Given the description of an element on the screen output the (x, y) to click on. 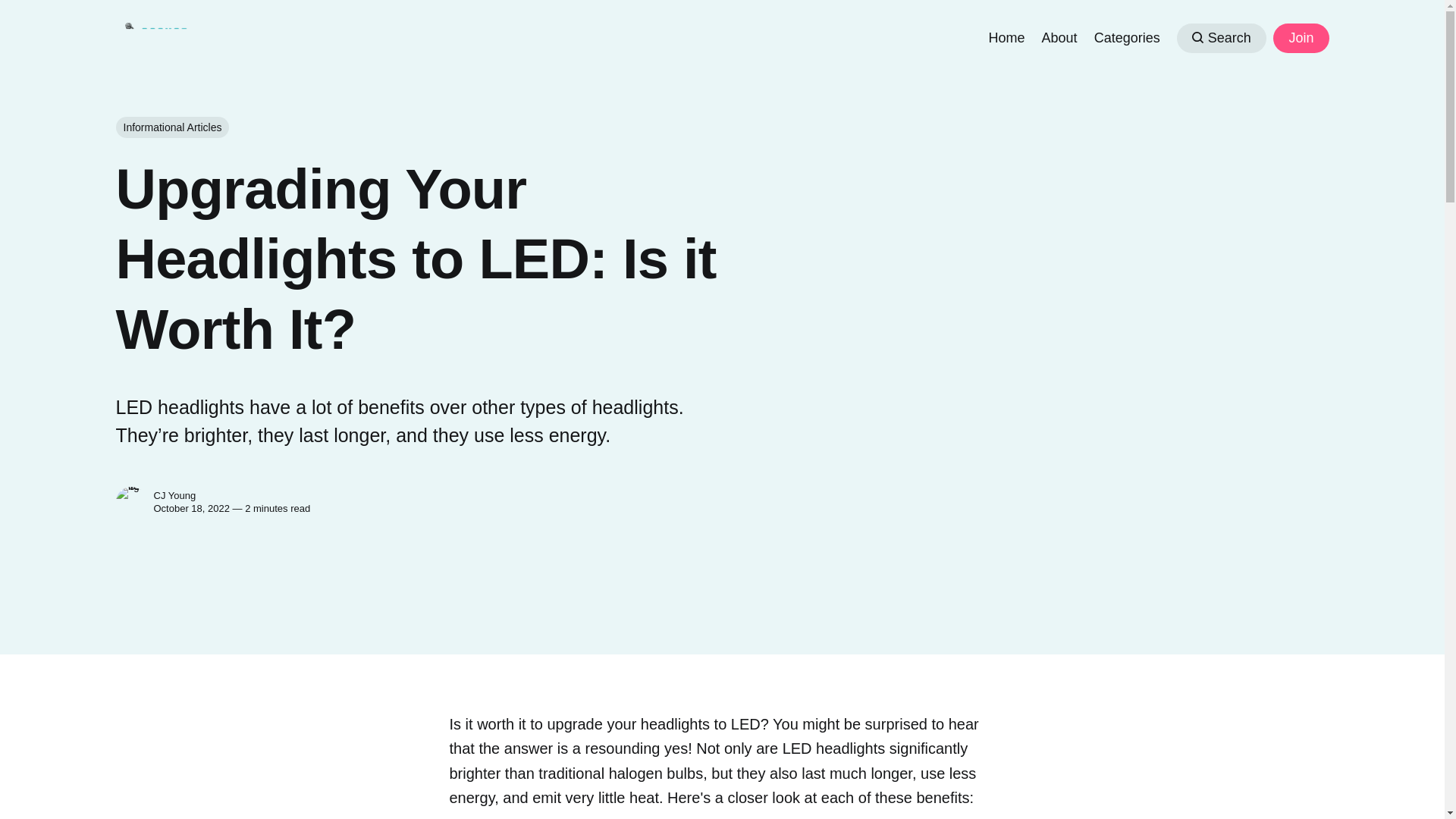
Informational Articles (171, 127)
CJ Young (130, 501)
About (1059, 37)
Categories (1127, 37)
CJ Young (173, 495)
Join (1299, 37)
Home (1006, 37)
